Given the description of an element on the screen output the (x, y) to click on. 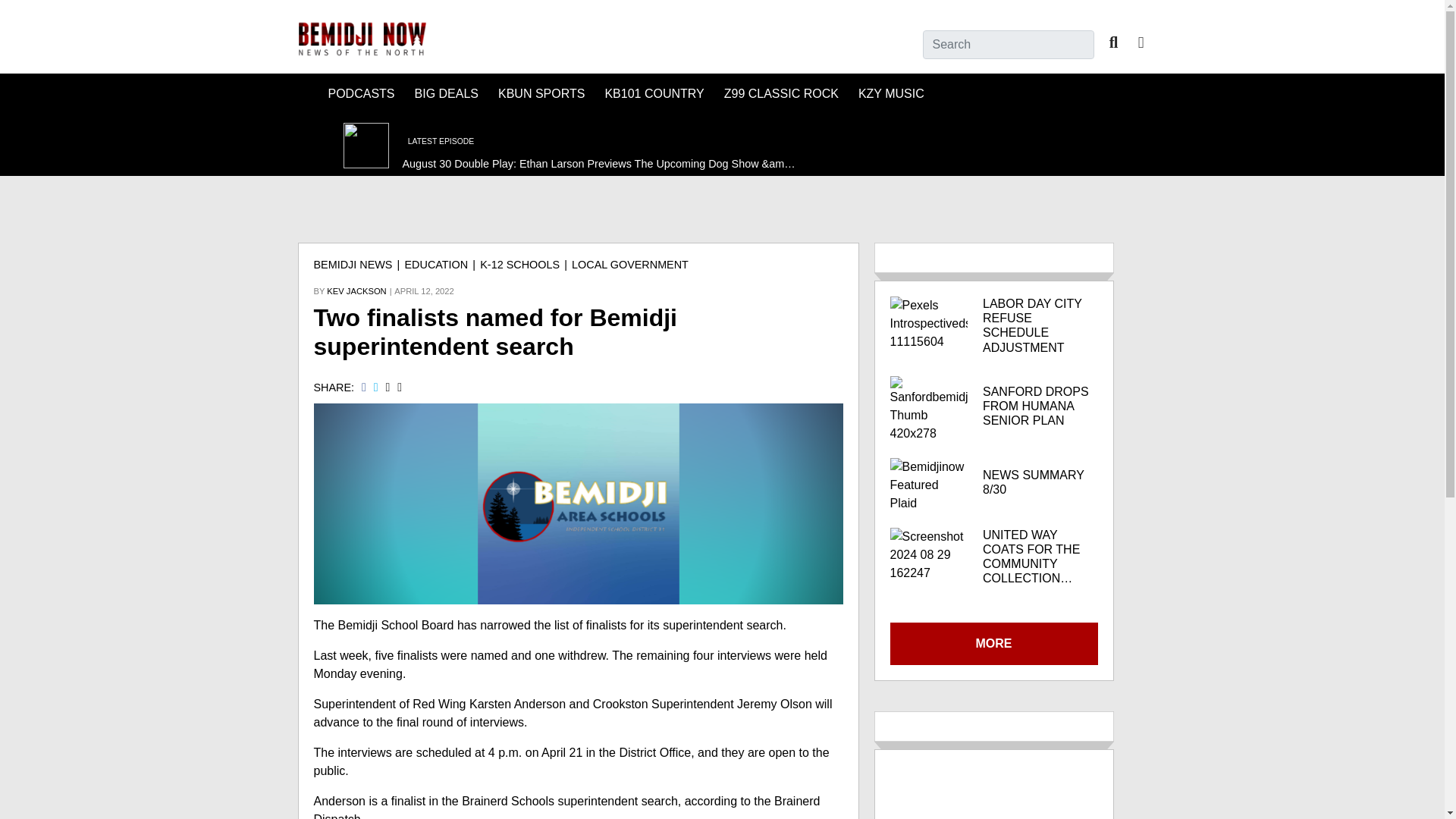
Launch player in new window... (312, 144)
Launch player in new window... (575, 146)
Z99 Classic Rock (780, 93)
PODCASTS (360, 93)
Launch player in new window... (361, 144)
KZY MUSIC (890, 93)
Facebook (1140, 42)
EDUCATION (436, 264)
KZY Music (890, 93)
SANFORD DROPS FROM HUMANA SENIOR PLAN (1039, 406)
